Given the description of an element on the screen output the (x, y) to click on. 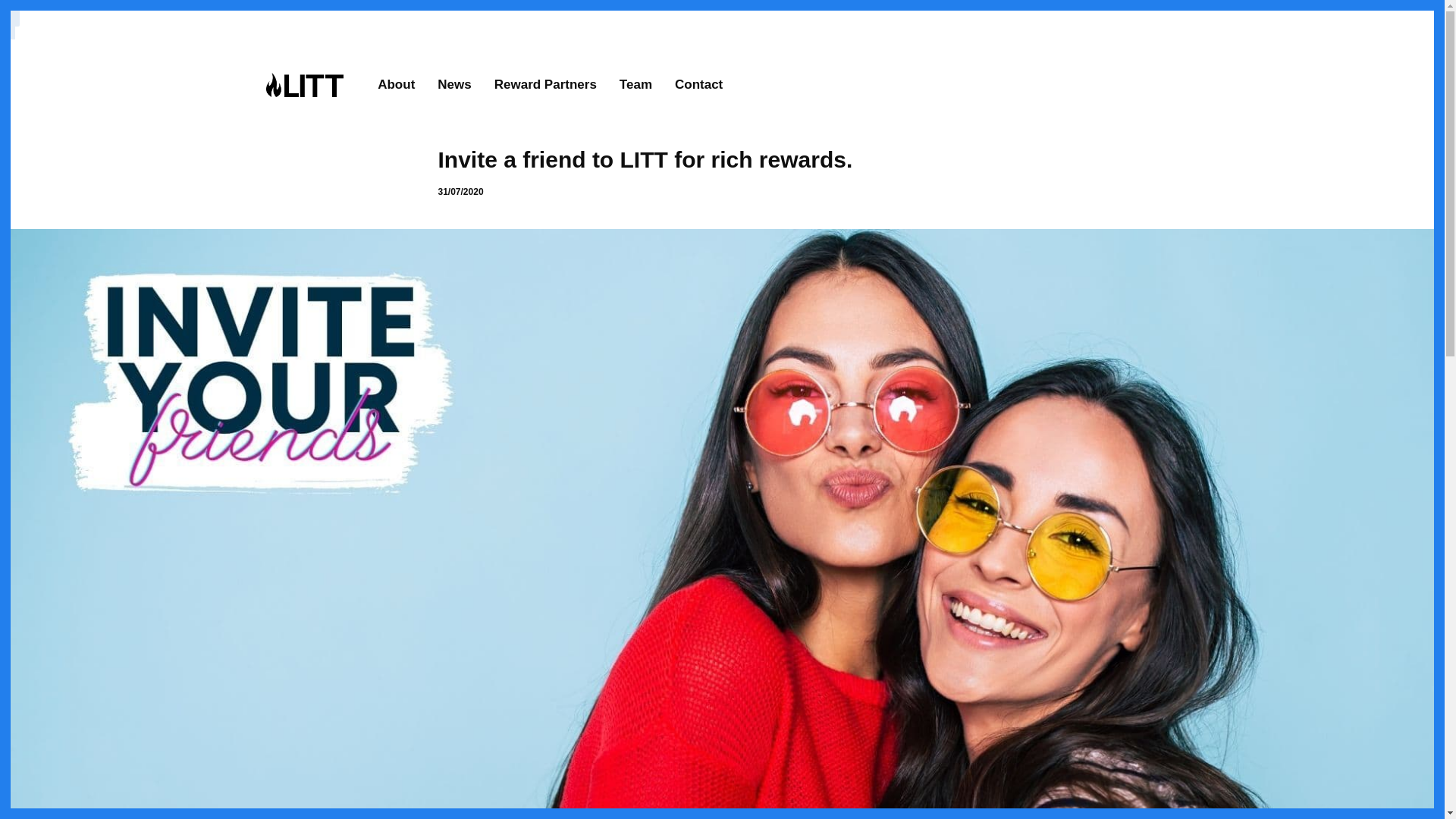
Invite a friend to LITT for rich rewards. (722, 159)
Skip to content (15, 7)
Reward Partners (545, 84)
